Given the description of an element on the screen output the (x, y) to click on. 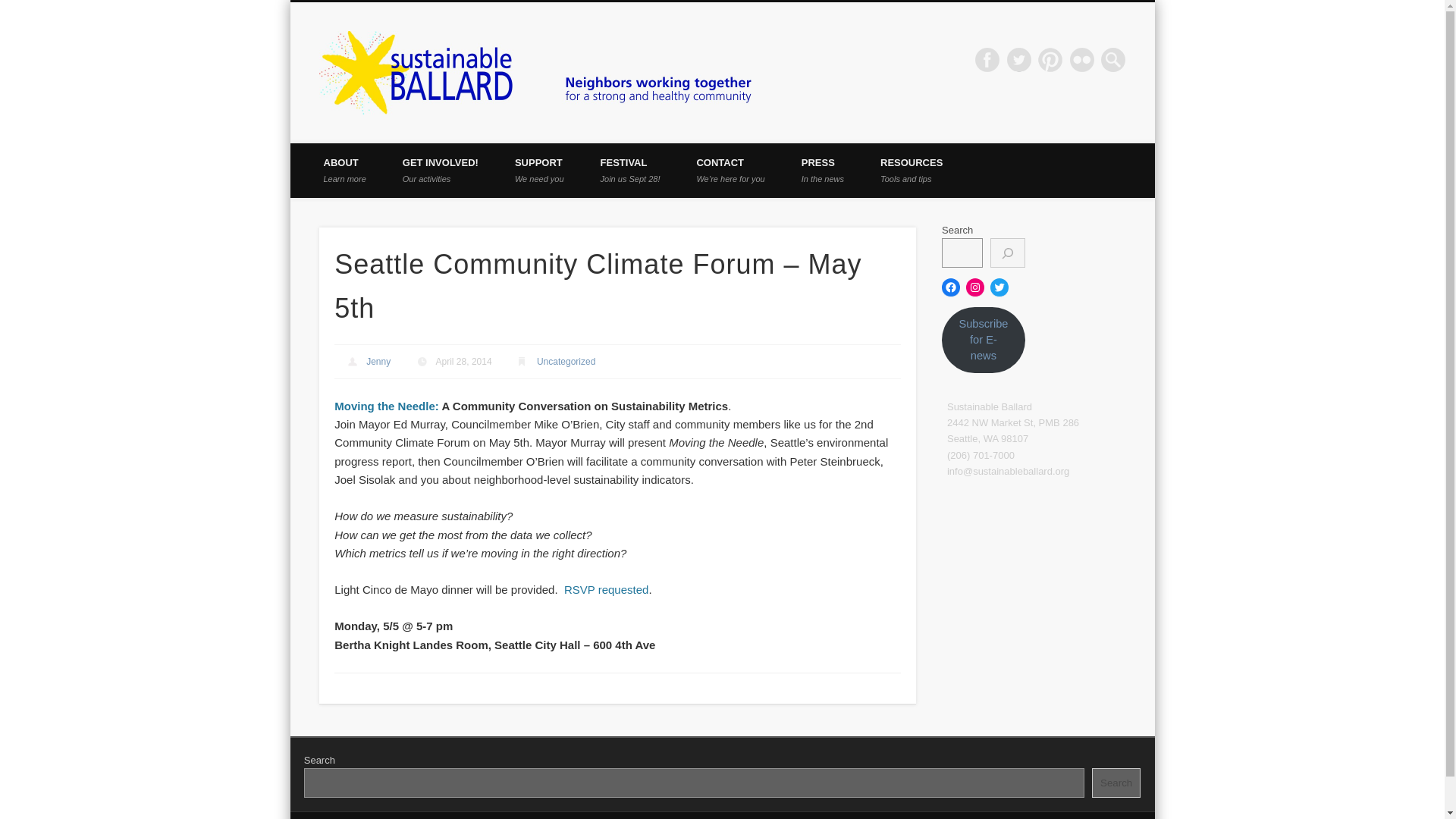
Flickr (344, 170)
Pinterest (630, 170)
Posts by Jenny (440, 170)
sustainable BALLARD (1082, 59)
Facebook (910, 170)
Twitter (1050, 59)
Search (378, 361)
